Given the description of an element on the screen output the (x, y) to click on. 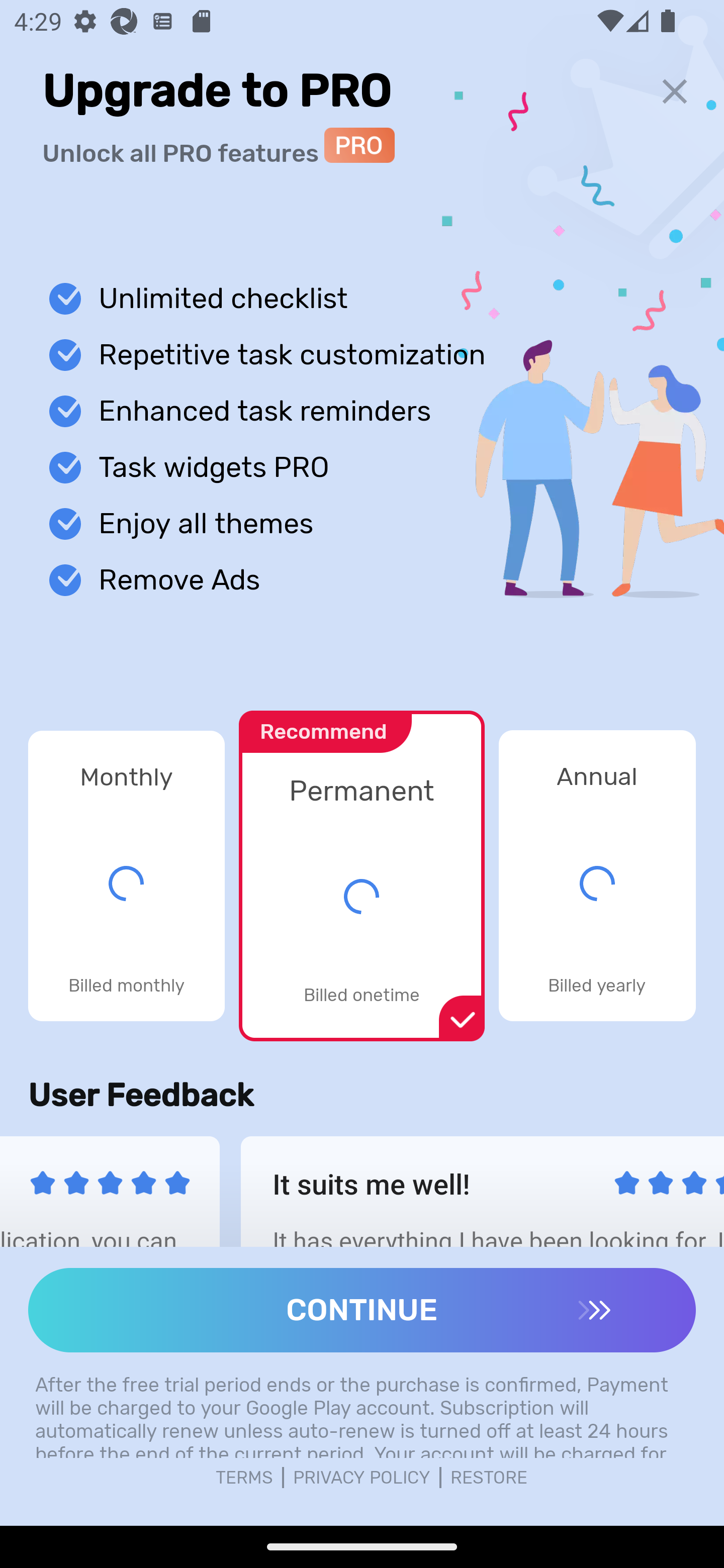
Recommend Permanent Billed onetime (361, 865)
Annual Billed yearly (596, 875)
Monthly Billed monthly (126, 875)
CONTINUE (361, 1309)
RESTORE (489, 1477)
